Given the description of an element on the screen output the (x, y) to click on. 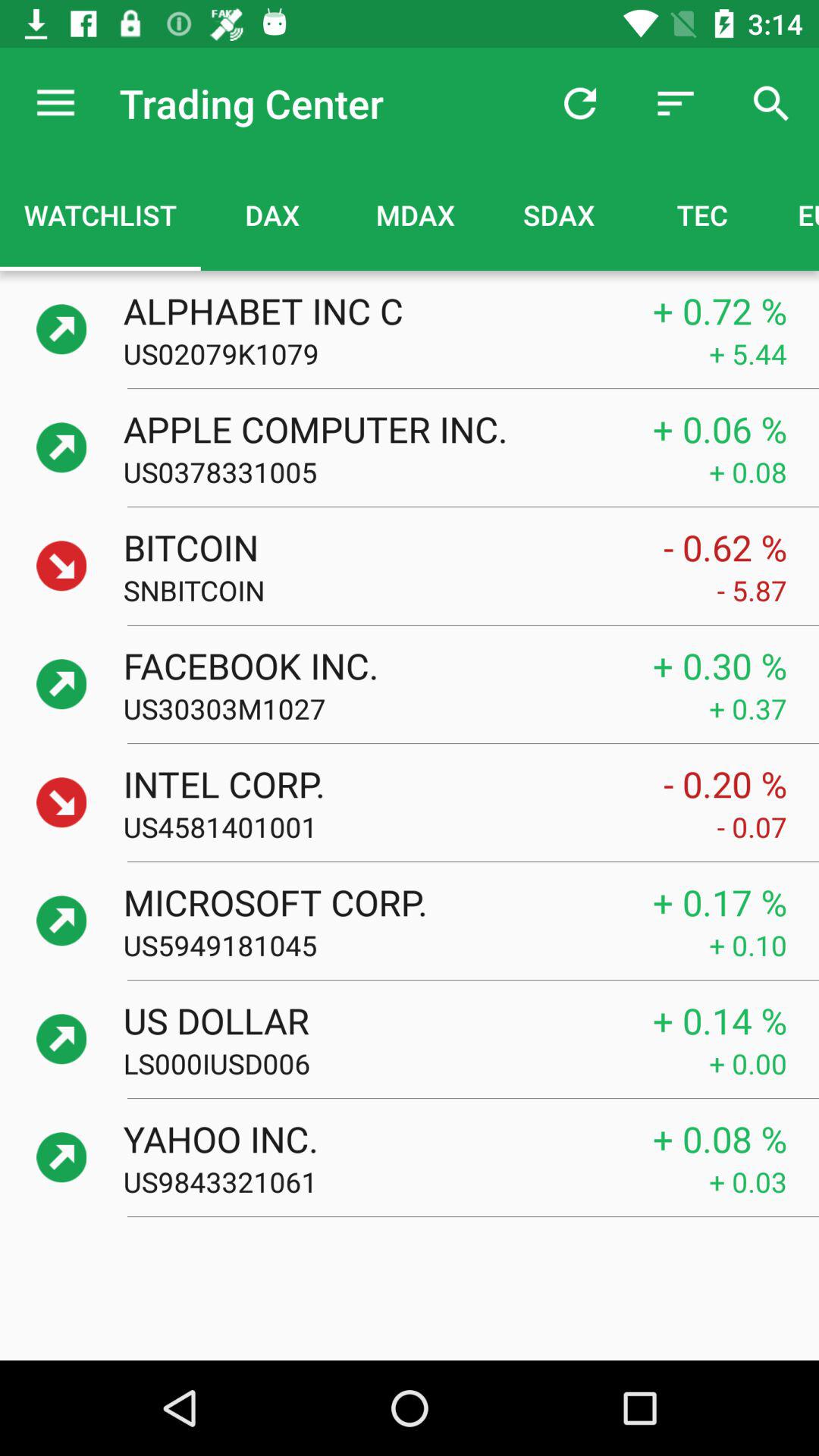
turn on the item to the left of the + 0.37 icon (416, 708)
